Given the description of an element on the screen output the (x, y) to click on. 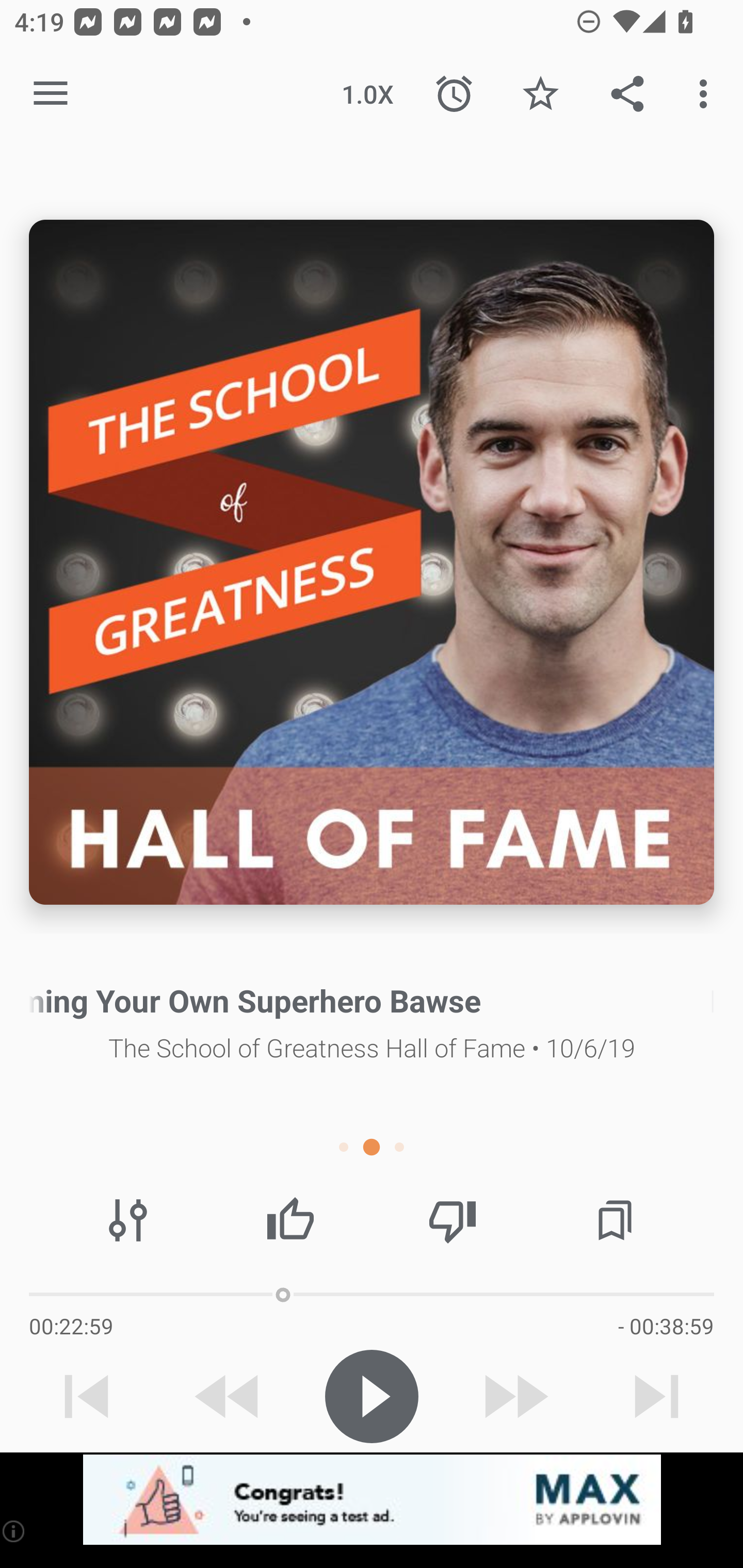
Open navigation sidebar (50, 93)
1.0X (366, 93)
Sleep Timer (453, 93)
Favorite (540, 93)
Share (626, 93)
More options (706, 93)
Episode description (371, 561)
Audio effects (127, 1220)
Thumbs up (290, 1220)
Thumbs down (452, 1220)
Chapters / Bookmarks (614, 1220)
- 00:38:59 (666, 1325)
Previous track (86, 1395)
Skip 15s backward (228, 1395)
Play / Pause (371, 1395)
Skip 30s forward (513, 1395)
Next track (656, 1395)
app-monetization (371, 1500)
(i) (14, 1531)
